Given the description of an element on the screen output the (x, y) to click on. 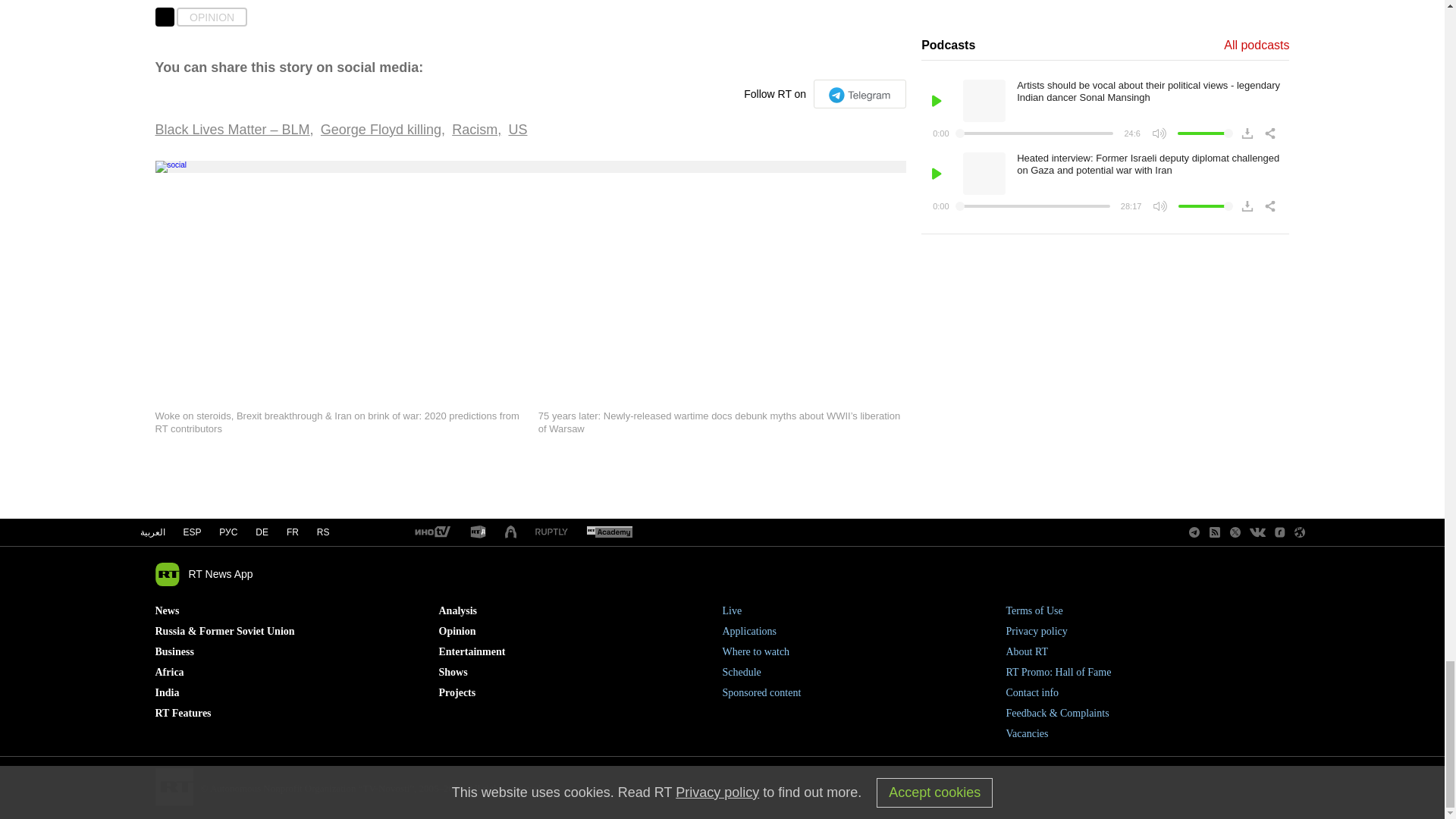
RT  (551, 532)
RT  (608, 532)
RT  (431, 532)
RT  (478, 532)
